Given the description of an element on the screen output the (x, y) to click on. 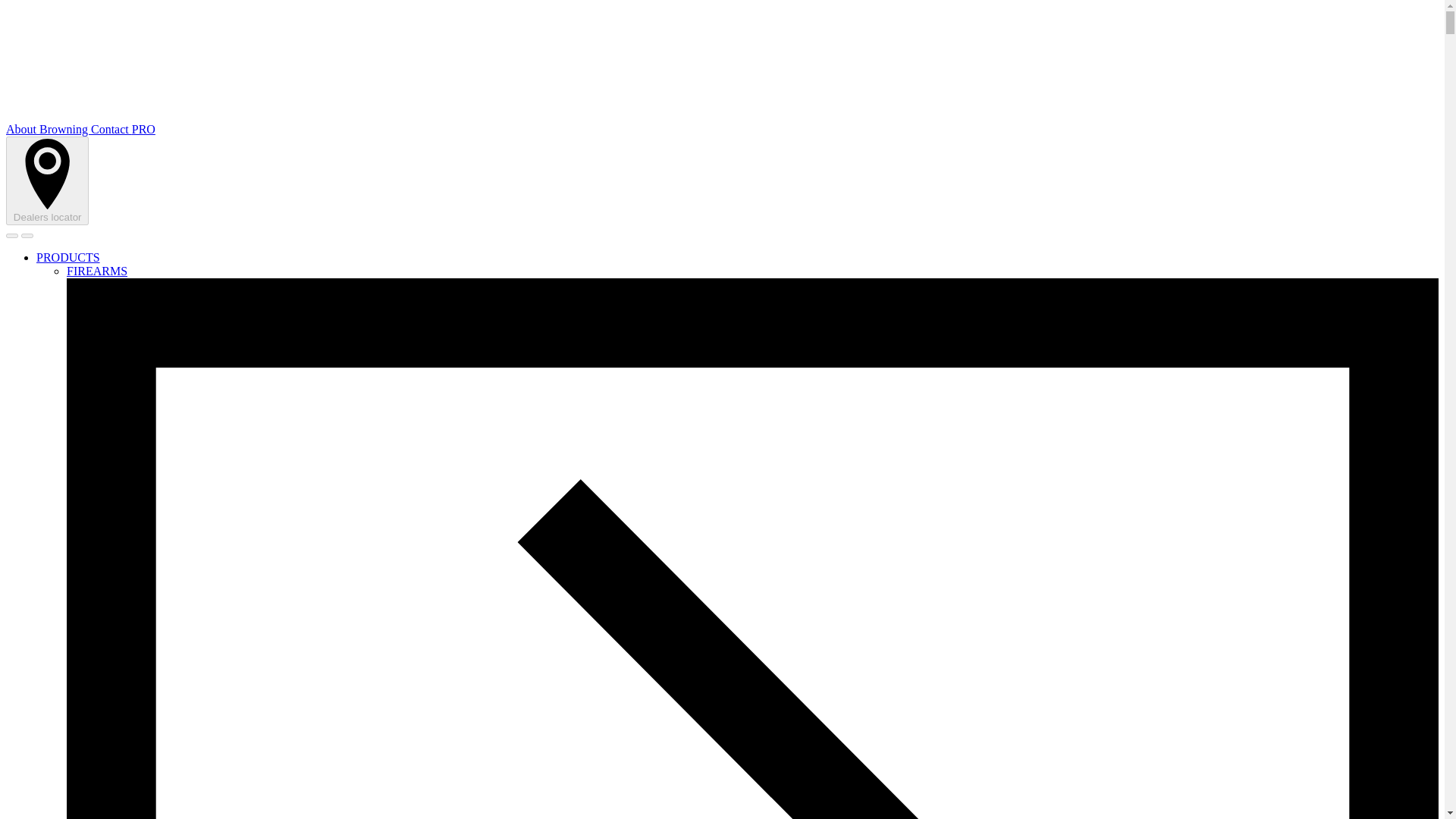
Dealers locator (46, 180)
PRO (143, 128)
Contact (111, 128)
About Browning (47, 128)
PRODUCTS (68, 256)
